Given the description of an element on the screen output the (x, y) to click on. 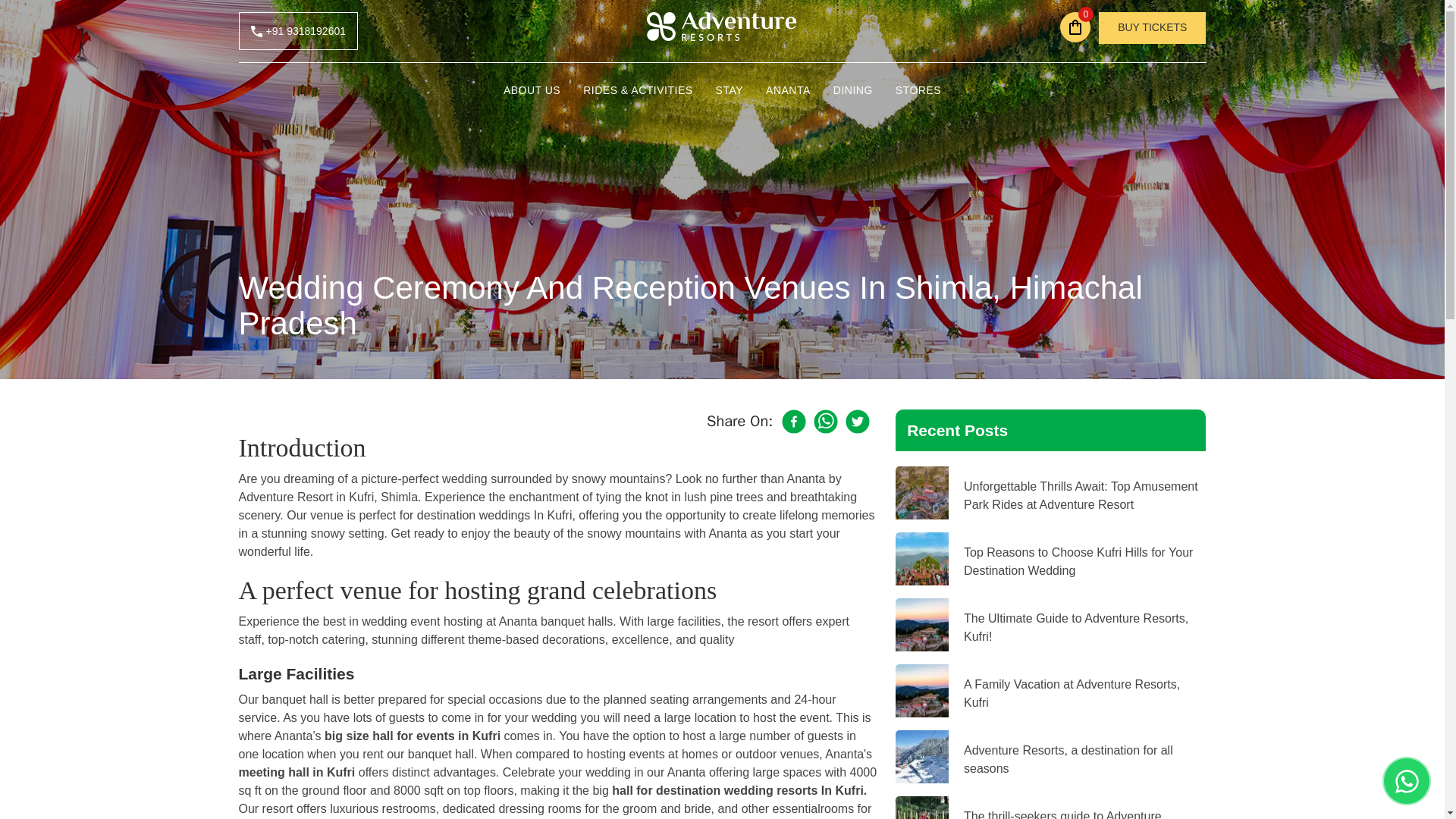
DINING (852, 90)
STAY (730, 90)
STORES (917, 90)
ABOUT US (531, 90)
ANANTA (787, 90)
BUY TICKETS (1152, 28)
0 (1074, 27)
